Given the description of an element on the screen output the (x, y) to click on. 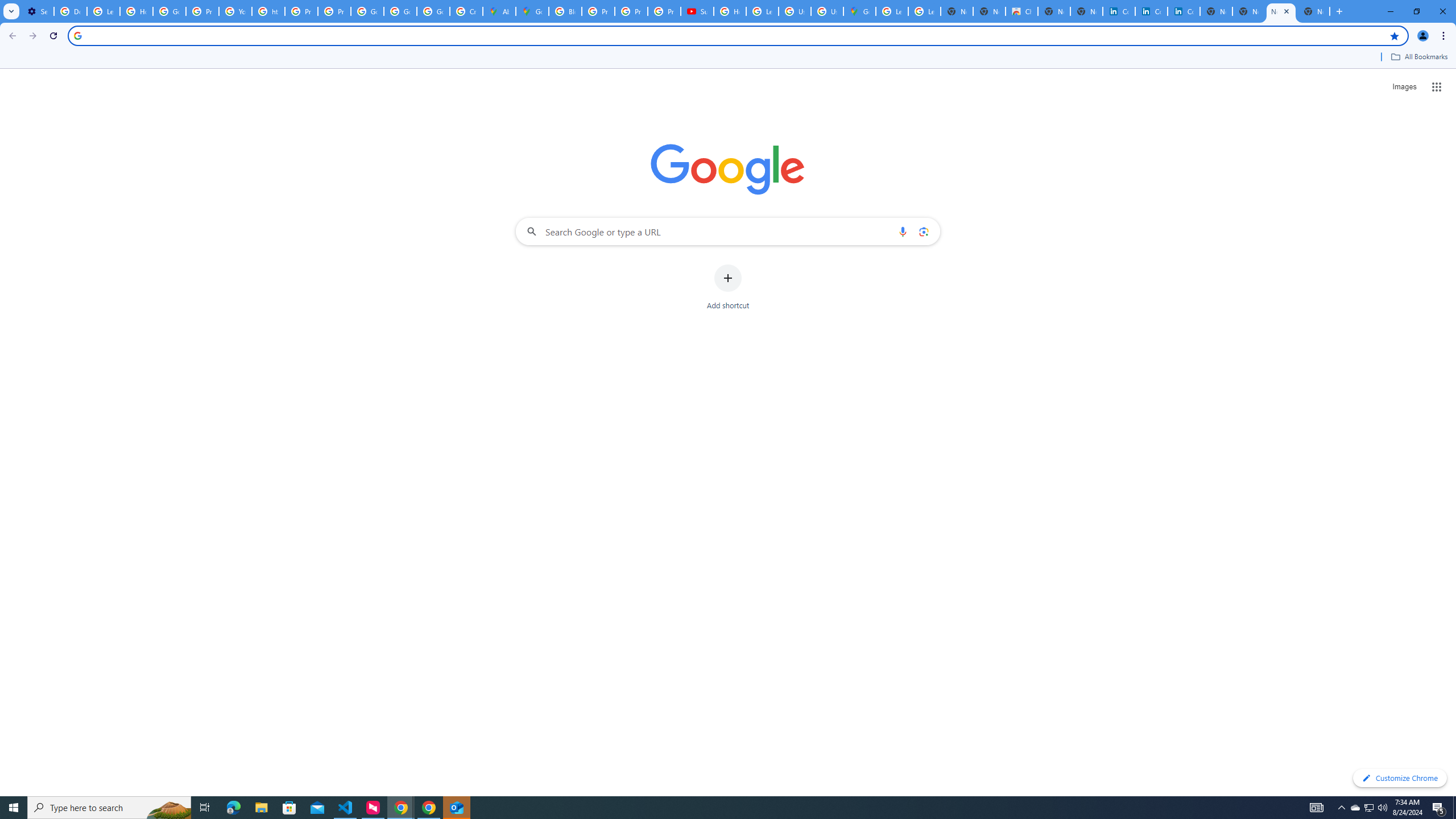
https://scholar.google.com/ (268, 11)
Restore (1416, 11)
Subscriptions - YouTube (697, 11)
Privacy Help Center - Policies Help (301, 11)
Chrome Web Store (1021, 11)
Reload (52, 35)
Cookie Policy | LinkedIn (1118, 11)
System (6, 6)
Settings - Customize profile (37, 11)
Google Maps (859, 11)
Forward (32, 35)
